Given the description of an element on the screen output the (x, y) to click on. 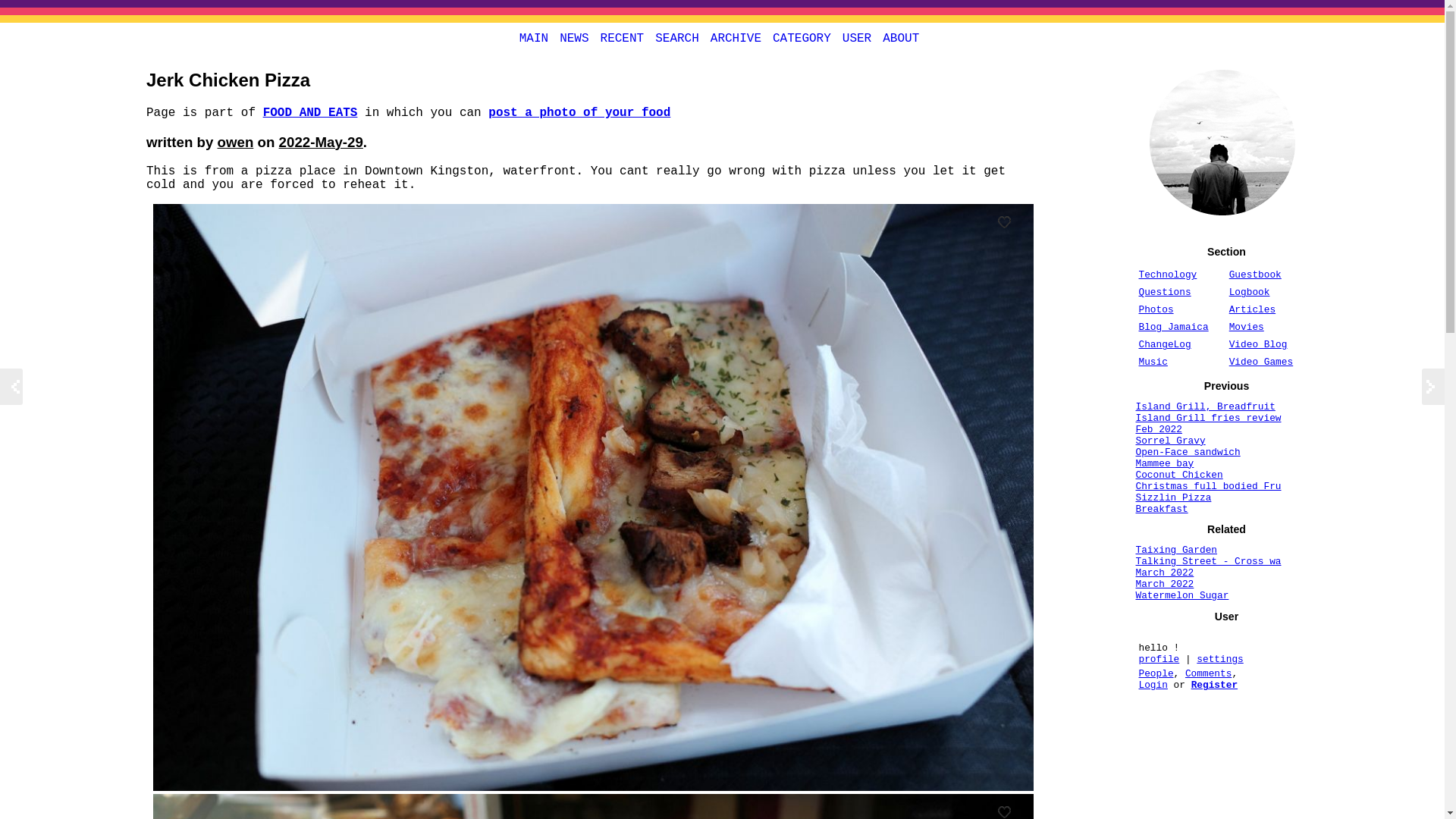
a slave to the belly (578, 112)
NEWS (574, 38)
FOOD AND EATS (310, 112)
a slave to the belly (310, 112)
Video Blog (1257, 344)
internet links (574, 38)
the old stuff (735, 38)
Guestbook (1254, 274)
Island Grill, Breadfruit (1205, 406)
Photos (1155, 309)
2022-May-29 (320, 141)
Video Games (1260, 361)
information (901, 38)
Logbook (1248, 292)
interact (856, 38)
